Given the description of an element on the screen output the (x, y) to click on. 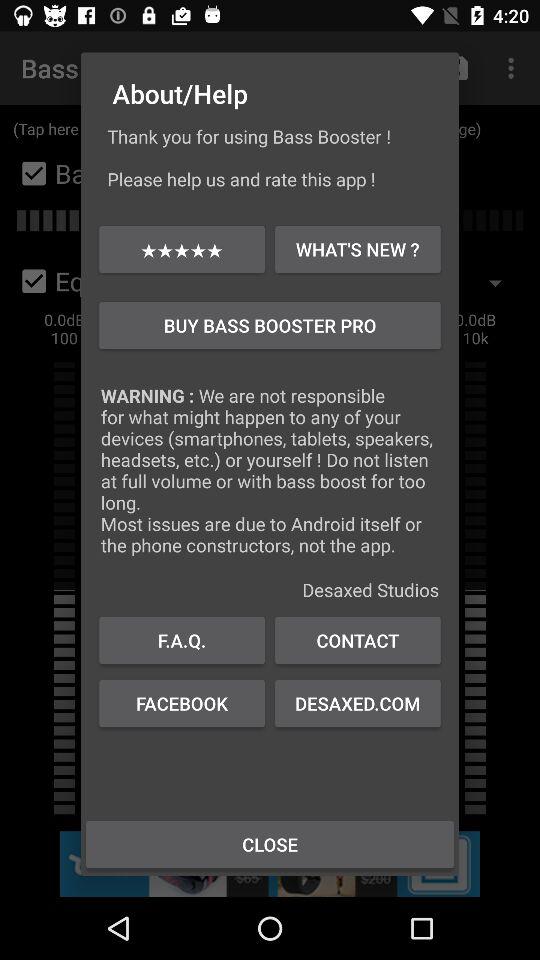
select item next to the contact item (182, 639)
